Given the description of an element on the screen output the (x, y) to click on. 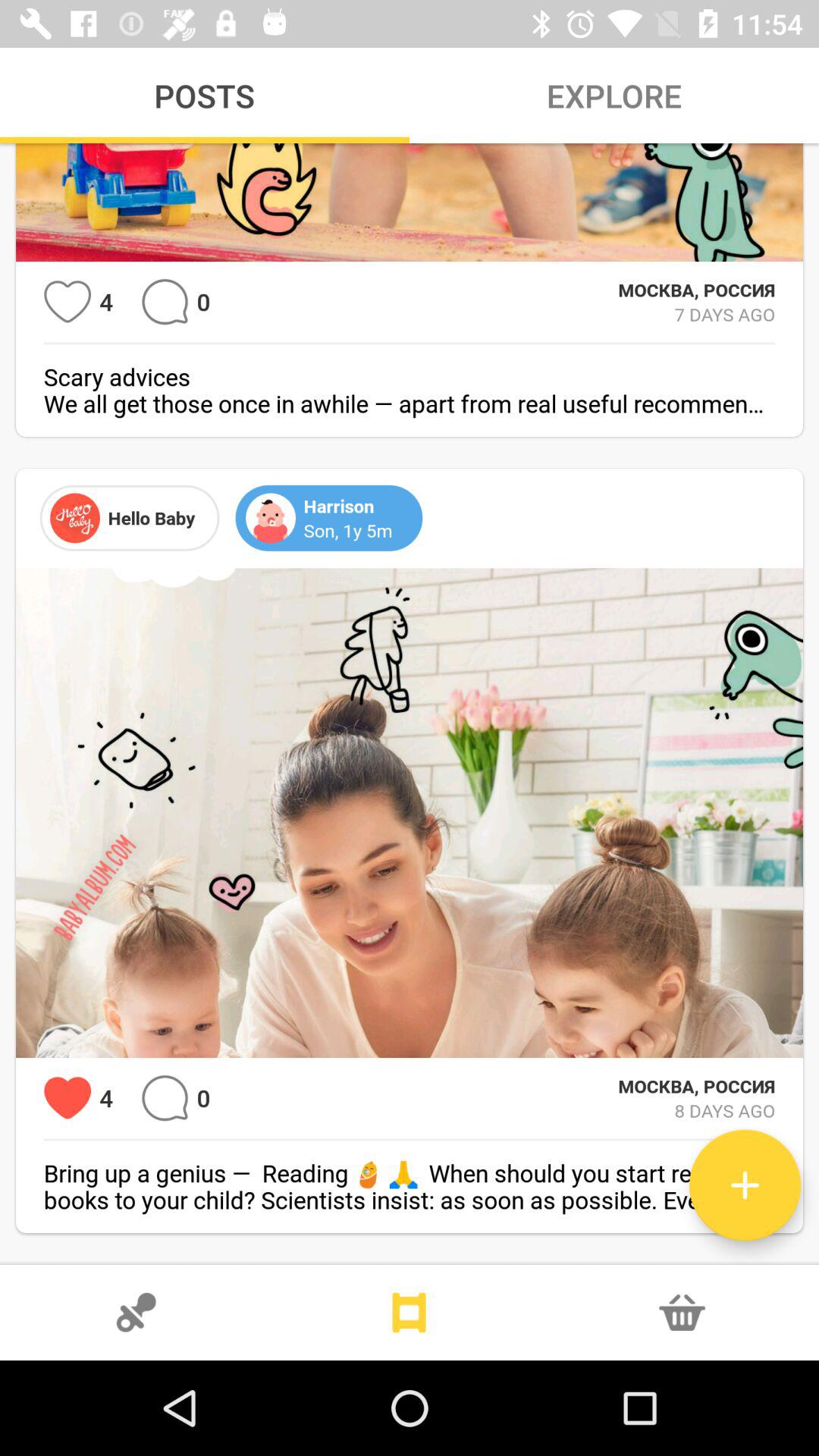
etc (164, 301)
